Given the description of an element on the screen output the (x, y) to click on. 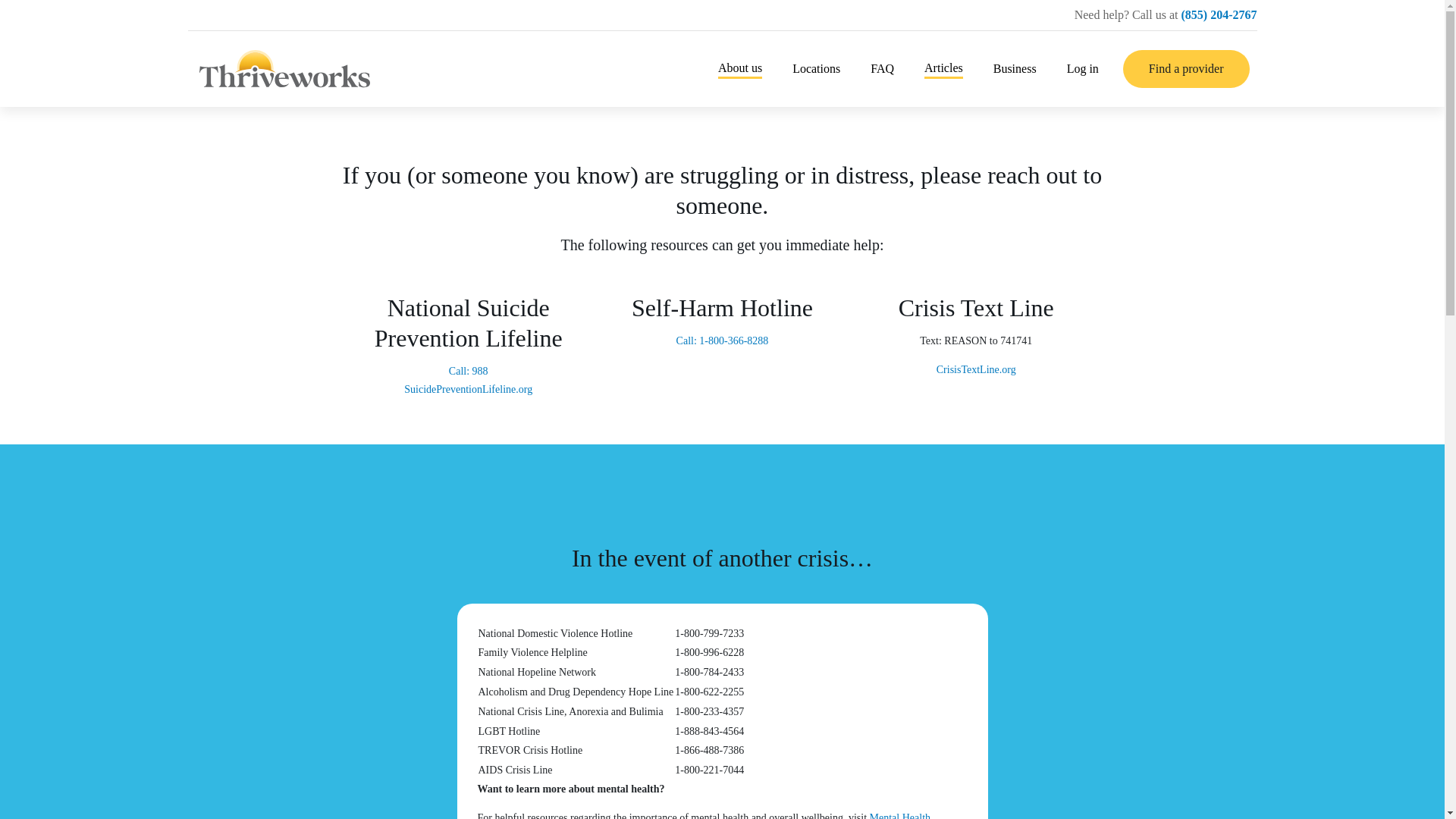
Business (1014, 67)
Find a provider (1185, 68)
Locations (815, 67)
FAQ (882, 67)
FAQ (882, 67)
About us (739, 68)
Articles (943, 68)
Articles (943, 68)
Log in (1082, 67)
About us (739, 68)
Locations (815, 67)
